Given the description of an element on the screen output the (x, y) to click on. 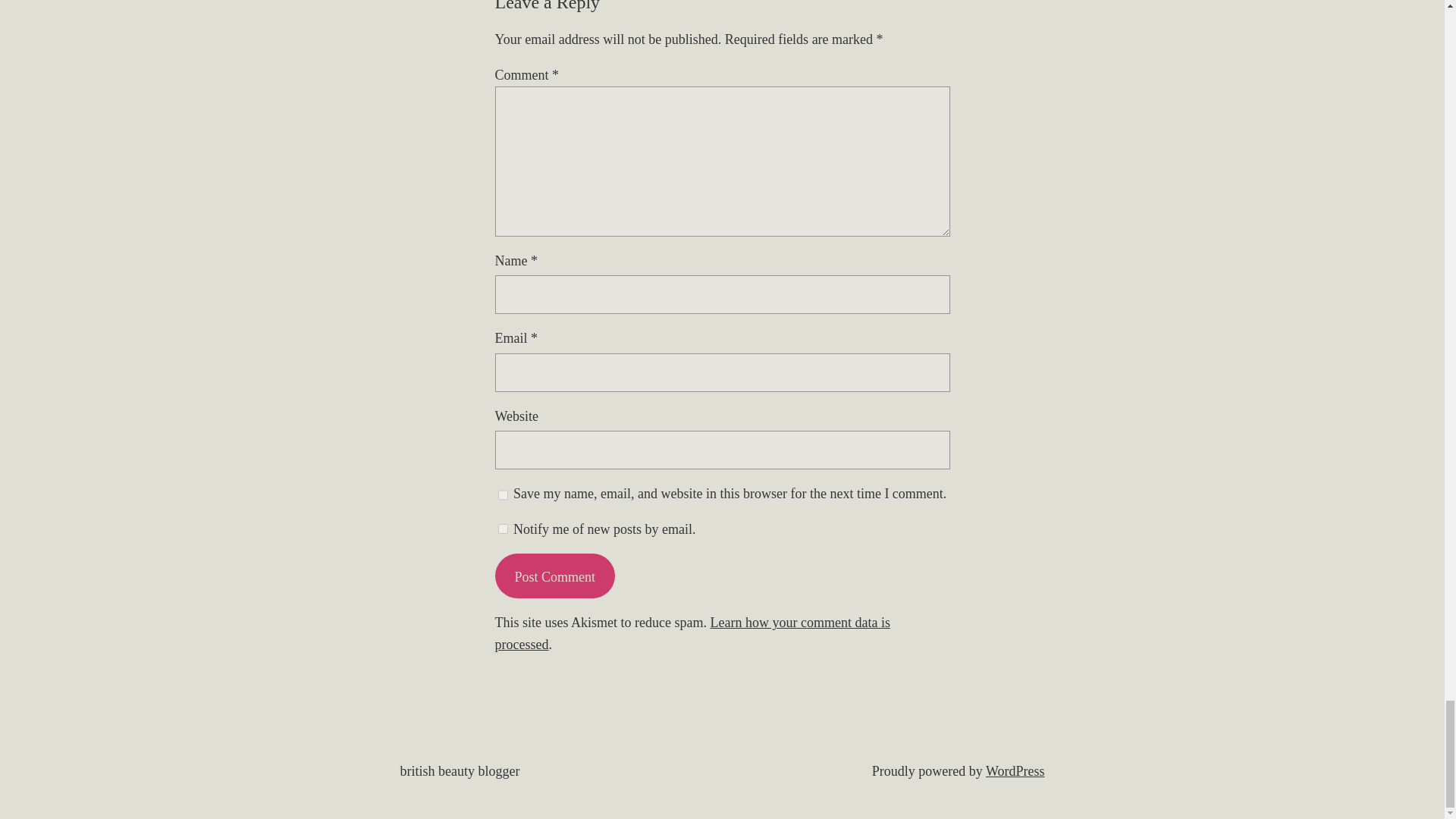
Post Comment (554, 575)
Post Comment (554, 575)
subscribe (501, 528)
WordPress (1015, 770)
british beauty blogger (459, 770)
Learn how your comment data is processed (692, 633)
